Given the description of an element on the screen output the (x, y) to click on. 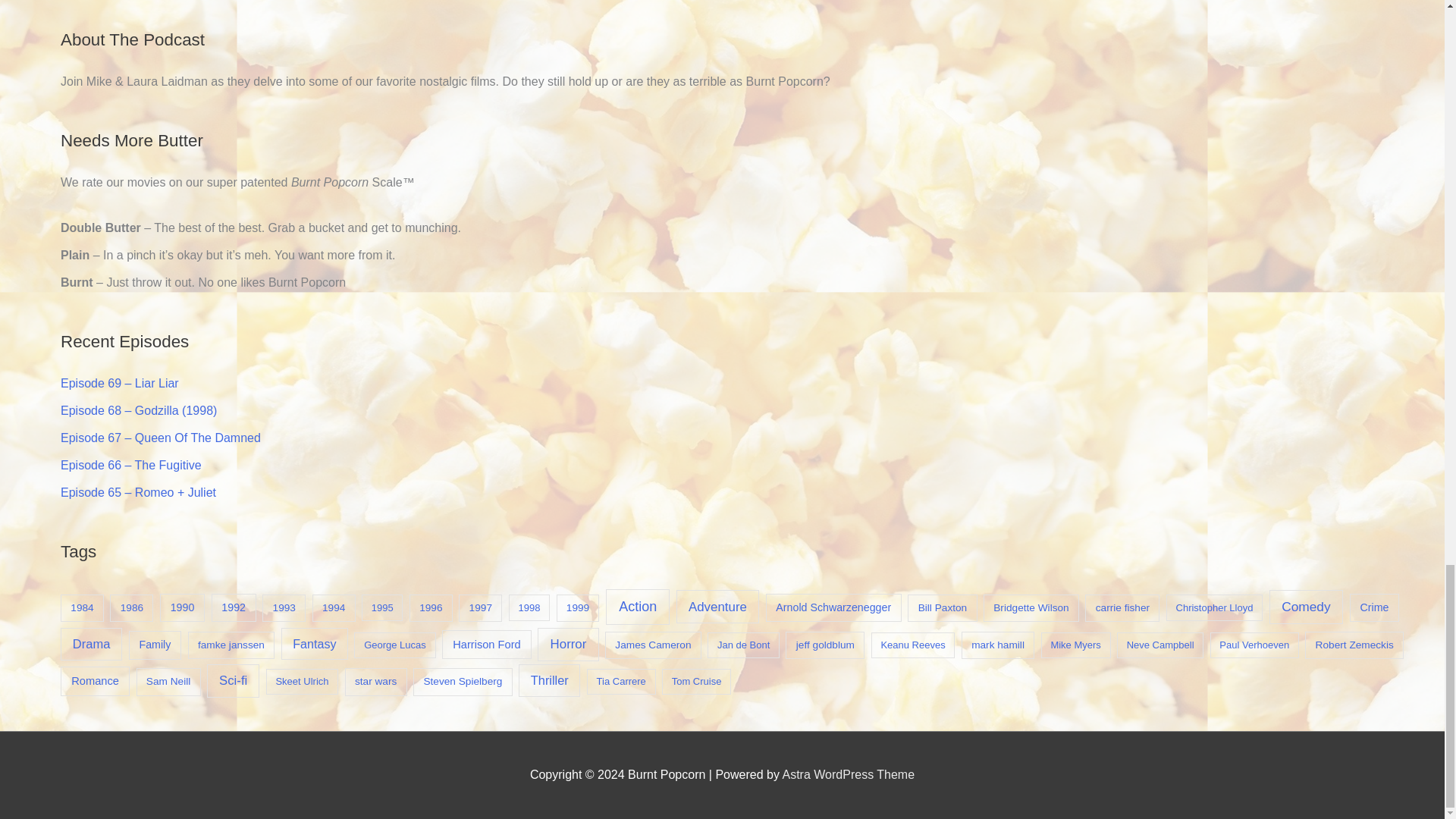
1997 (480, 607)
1992 (233, 607)
1990 (182, 607)
1995 (382, 607)
1994 (334, 607)
1996 (430, 607)
1993 (283, 607)
1998 (529, 607)
1986 (131, 607)
1984 (82, 607)
